Given the description of an element on the screen output the (x, y) to click on. 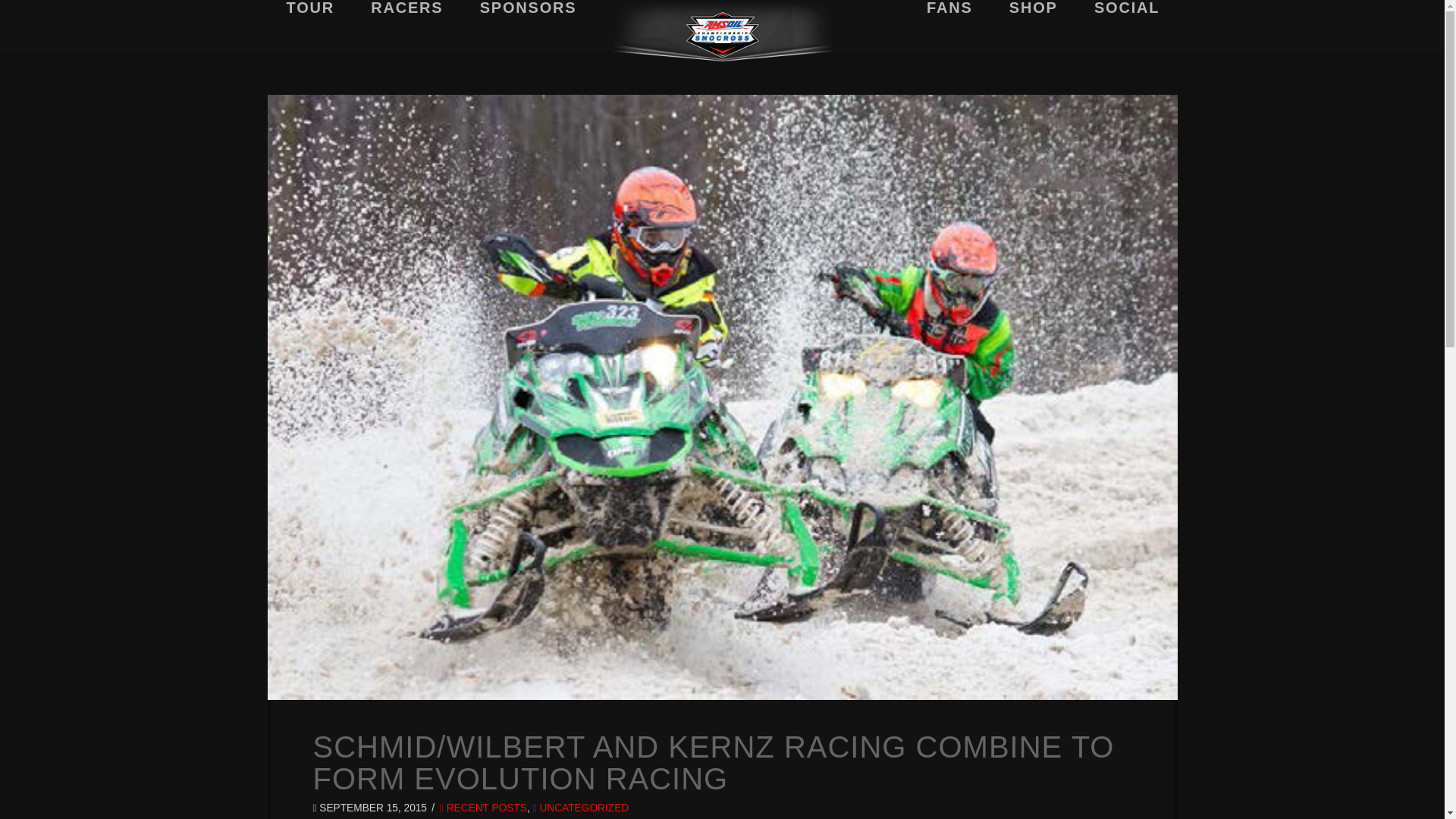
FANS (948, 32)
SHOP (1032, 32)
SPONSORS (527, 32)
RACERS (406, 32)
TOUR (309, 32)
SOCIAL (1126, 32)
